Given the description of an element on the screen output the (x, y) to click on. 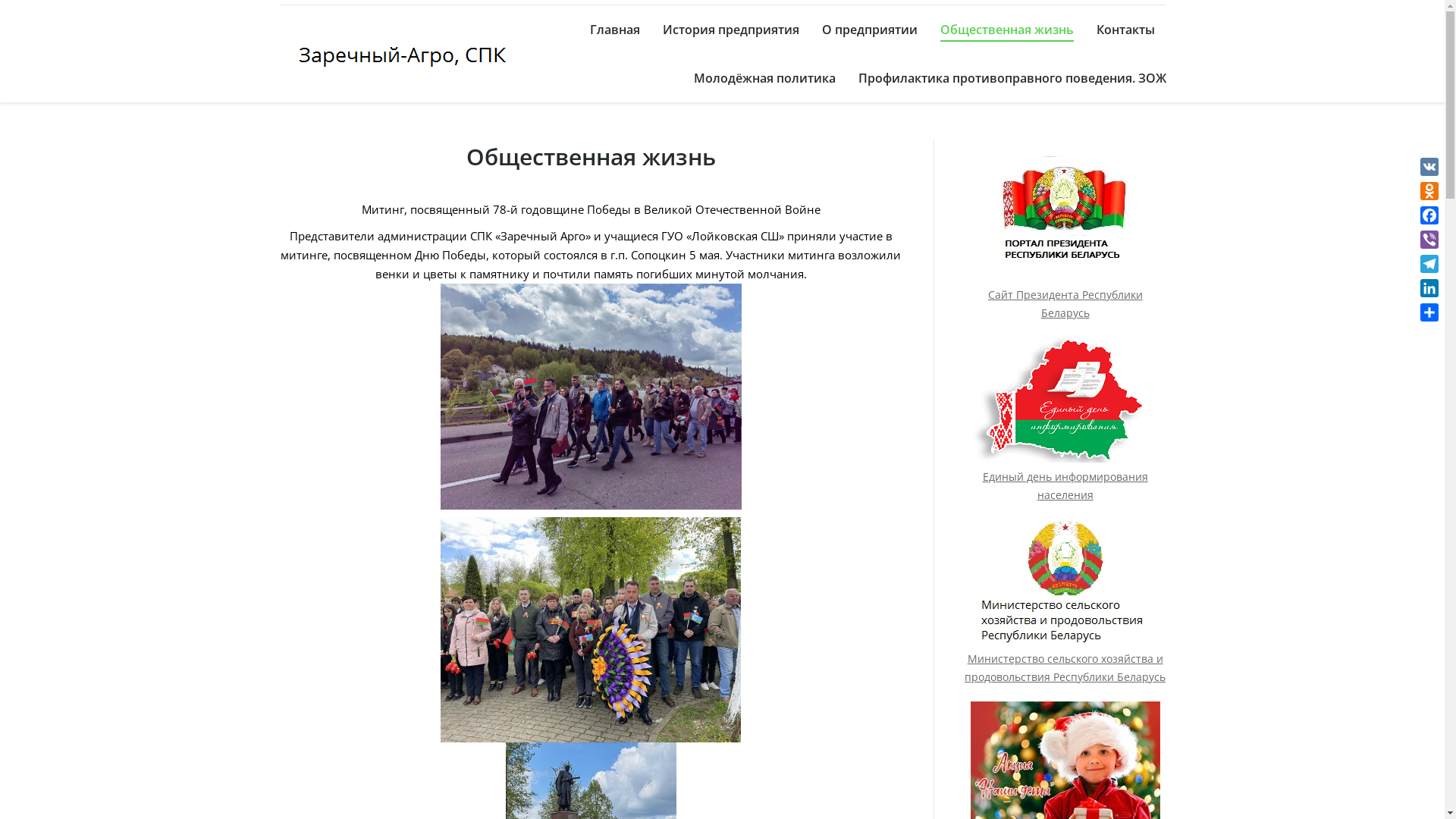
Odnoklassniki Element type: text (1429, 190)
Viber Element type: text (1429, 239)
LinkedIn Element type: text (1429, 288)
VK Element type: text (1429, 166)
Telegram Element type: text (1429, 263)
Facebook Element type: text (1429, 215)
